Given the description of an element on the screen output the (x, y) to click on. 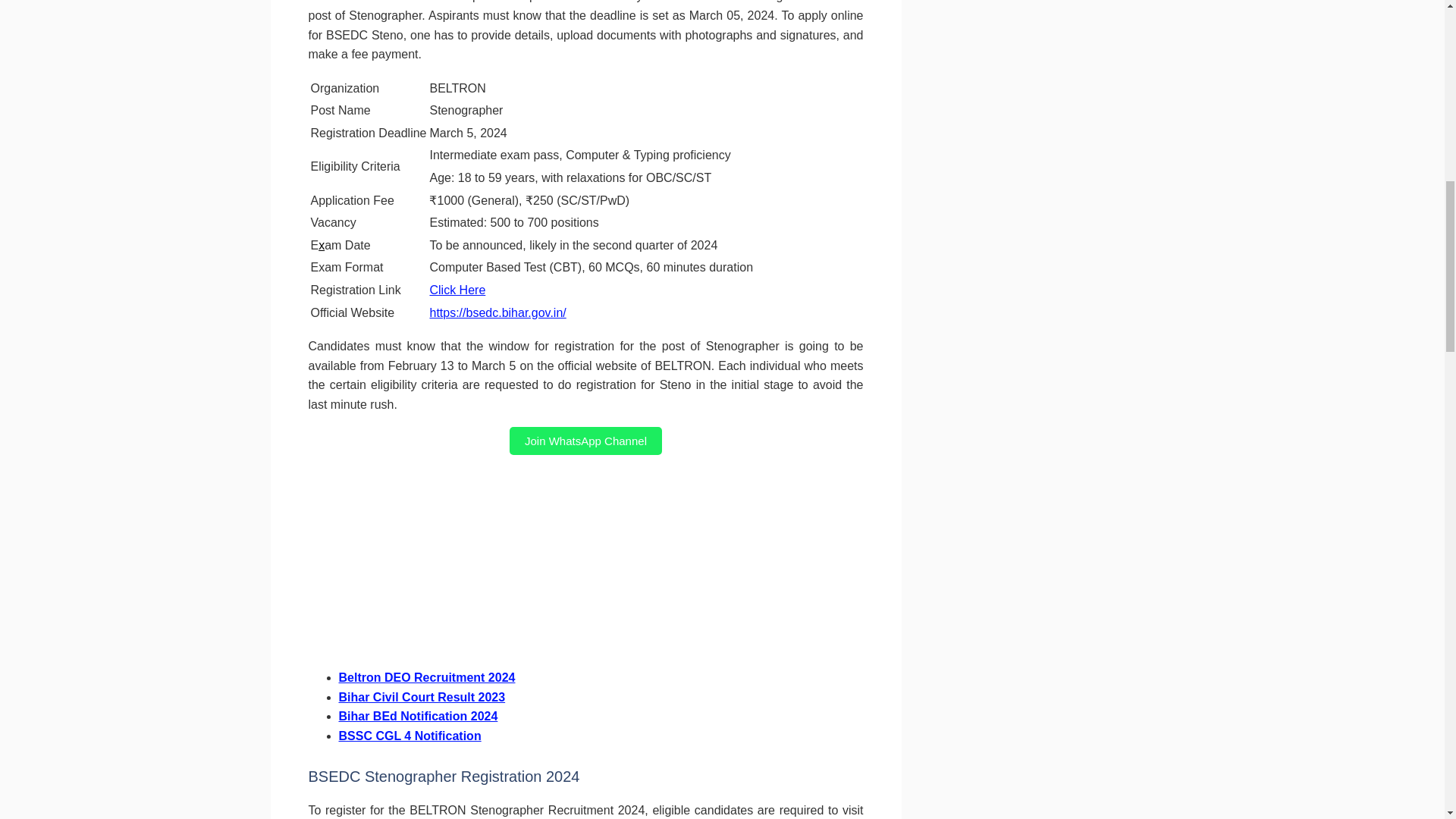
x (321, 245)
BSSC CGL 4 Notification (408, 735)
Join WhatsApp Channel (585, 440)
Bihar Civil Court Result 2023 (421, 697)
Join WhatsApp Channel (585, 440)
Bihar BEd Notification 2024 (417, 716)
Beltron DEO Recruitment 2024 (426, 676)
Click Here (456, 289)
